Given the description of an element on the screen output the (x, y) to click on. 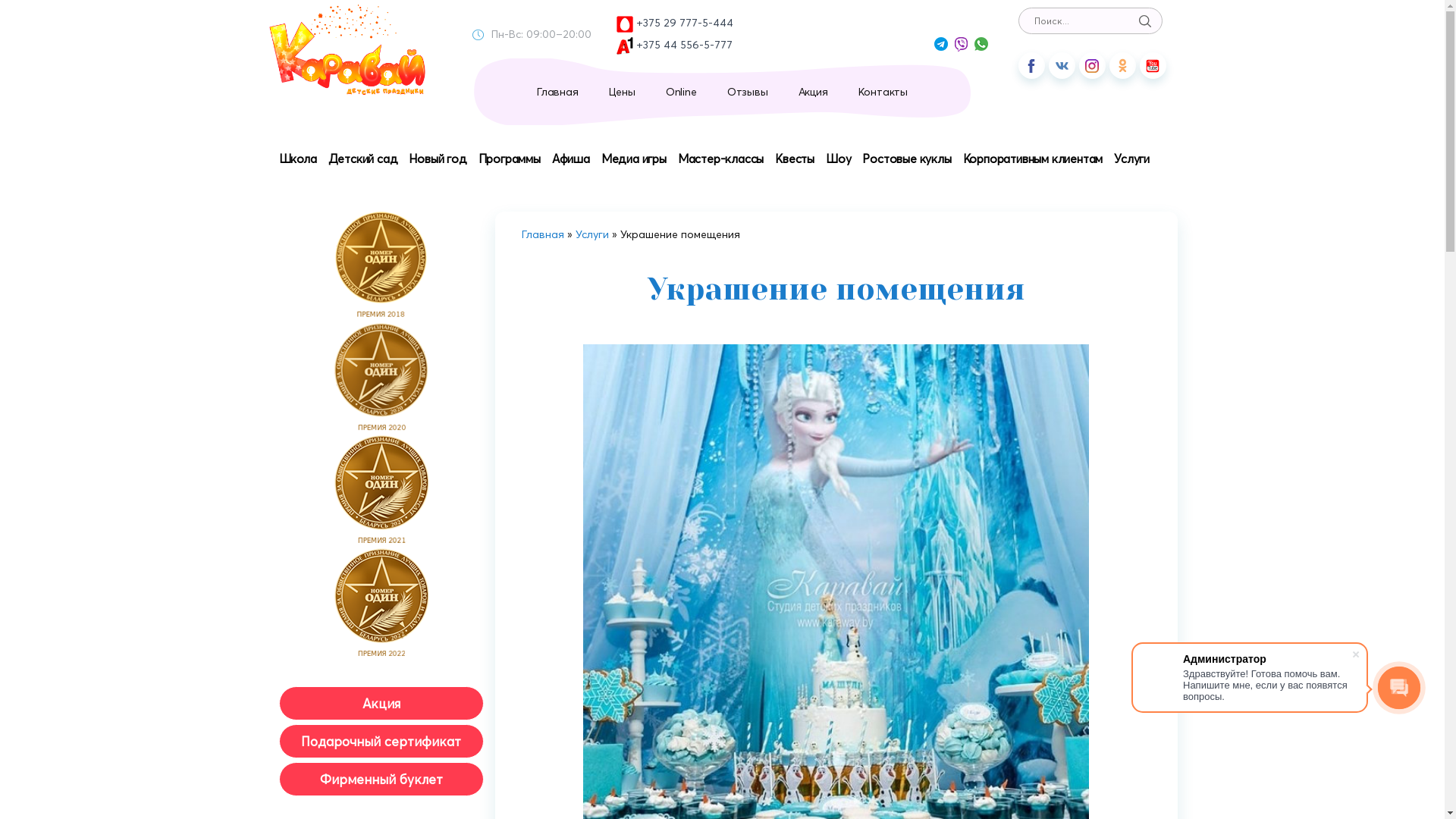
 +375 29 777-5-444 Element type: text (674, 23)
Online Element type: text (681, 91)
OK Element type: hover (1122, 65)
 +375 44 556-5-777 Element type: text (674, 45)
Telegram Element type: hover (940, 43)
YouTube Element type: hover (1152, 65)
Instagram Element type: hover (1091, 65)
Facebook Element type: hover (1031, 65)
Whatsapp Element type: hover (980, 43)
Viber Element type: hover (959, 44)
